Given the description of an element on the screen output the (x, y) to click on. 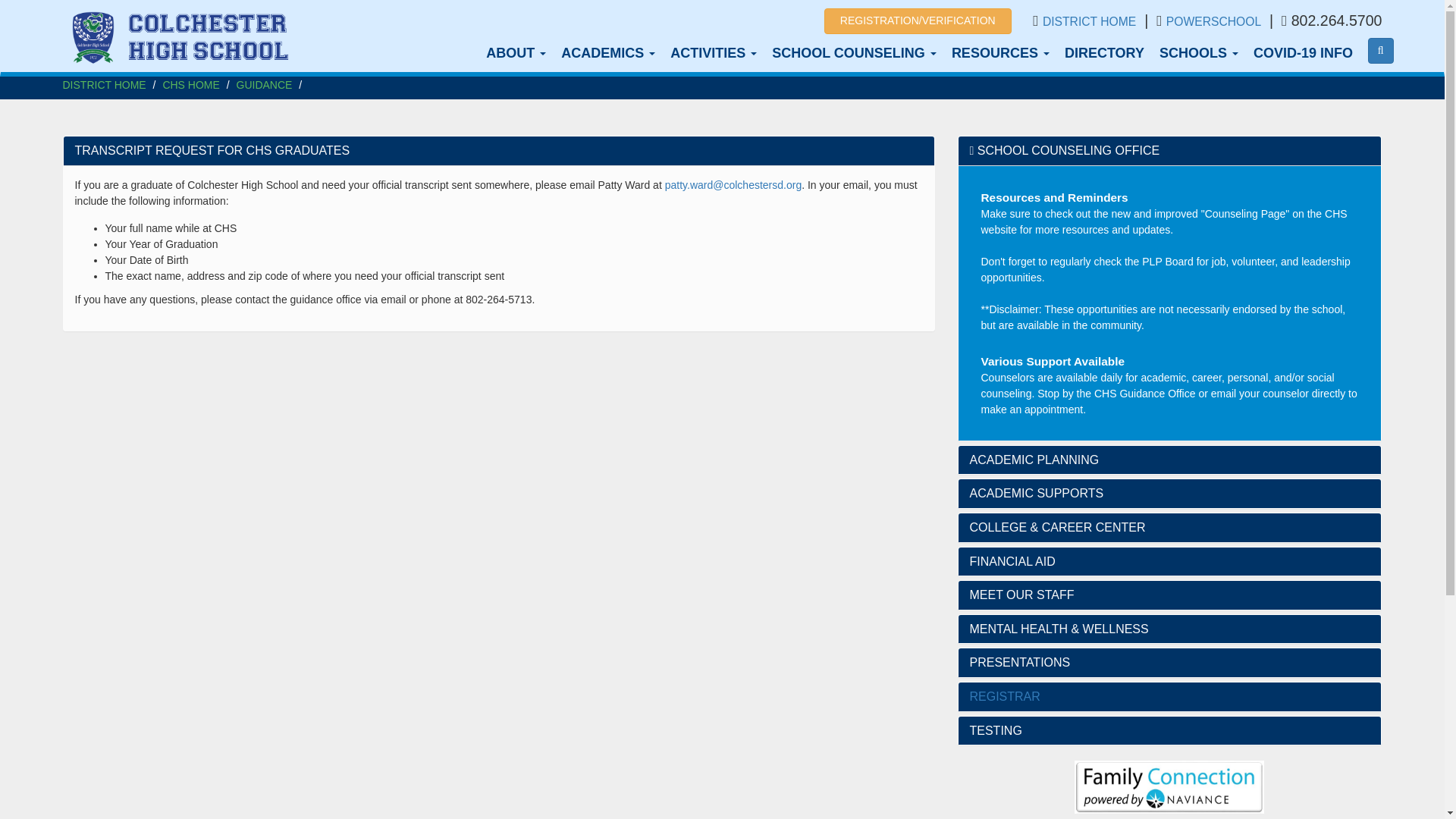
POWERSCHOOL (1213, 21)
DISTRICT HOME (1088, 21)
ABOUT (516, 52)
ACADEMICS (607, 52)
